Given the description of an element on the screen output the (x, y) to click on. 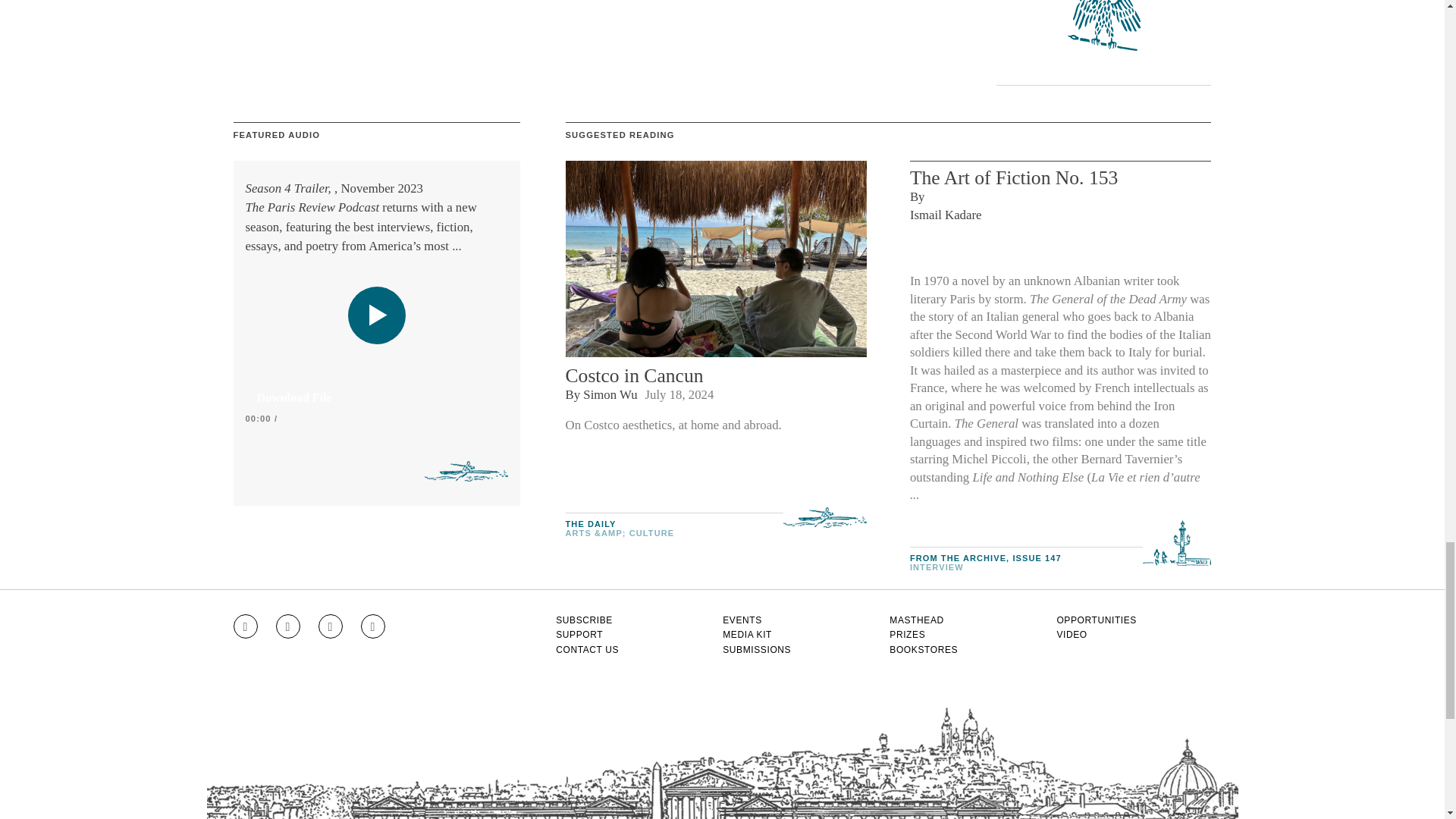
Go to RSS feed (373, 626)
Go to Facebook page (287, 626)
Go to Twitter feed (330, 626)
Go to Instagram feed (244, 626)
